Given the description of an element on the screen output the (x, y) to click on. 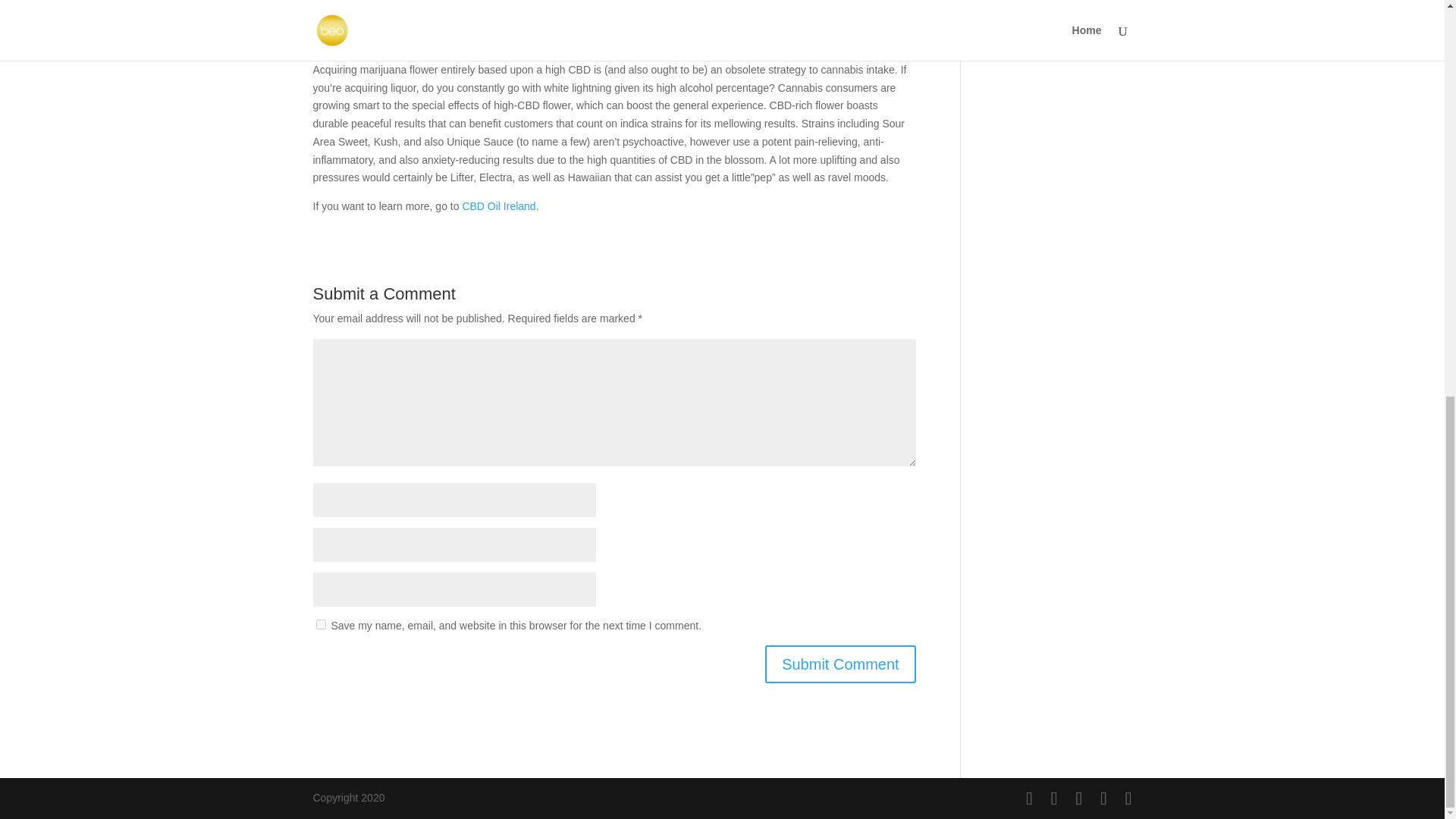
CBD Oil Ireland (498, 205)
Submit Comment (840, 664)
Submit Comment (840, 664)
yes (319, 624)
